Given the description of an element on the screen output the (x, y) to click on. 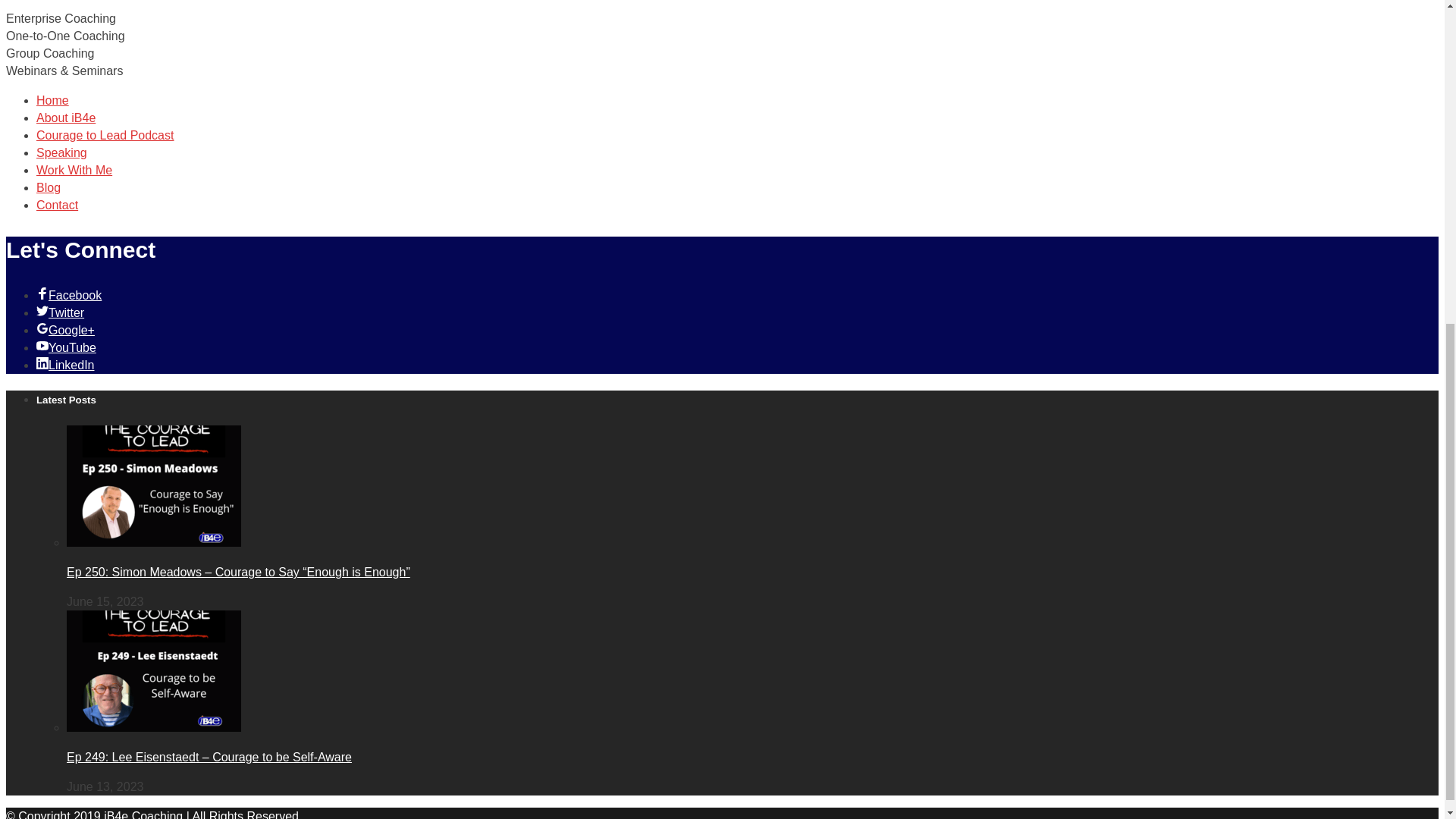
Contact (57, 205)
Blog (48, 187)
About iB4e (66, 117)
Facebook (68, 295)
LinkedIn (65, 364)
Courage to Lead Podcast (104, 134)
Work With Me (74, 169)
YouTube (66, 347)
Home (52, 100)
Speaking (61, 152)
Twitter (60, 312)
